Given the description of an element on the screen output the (x, y) to click on. 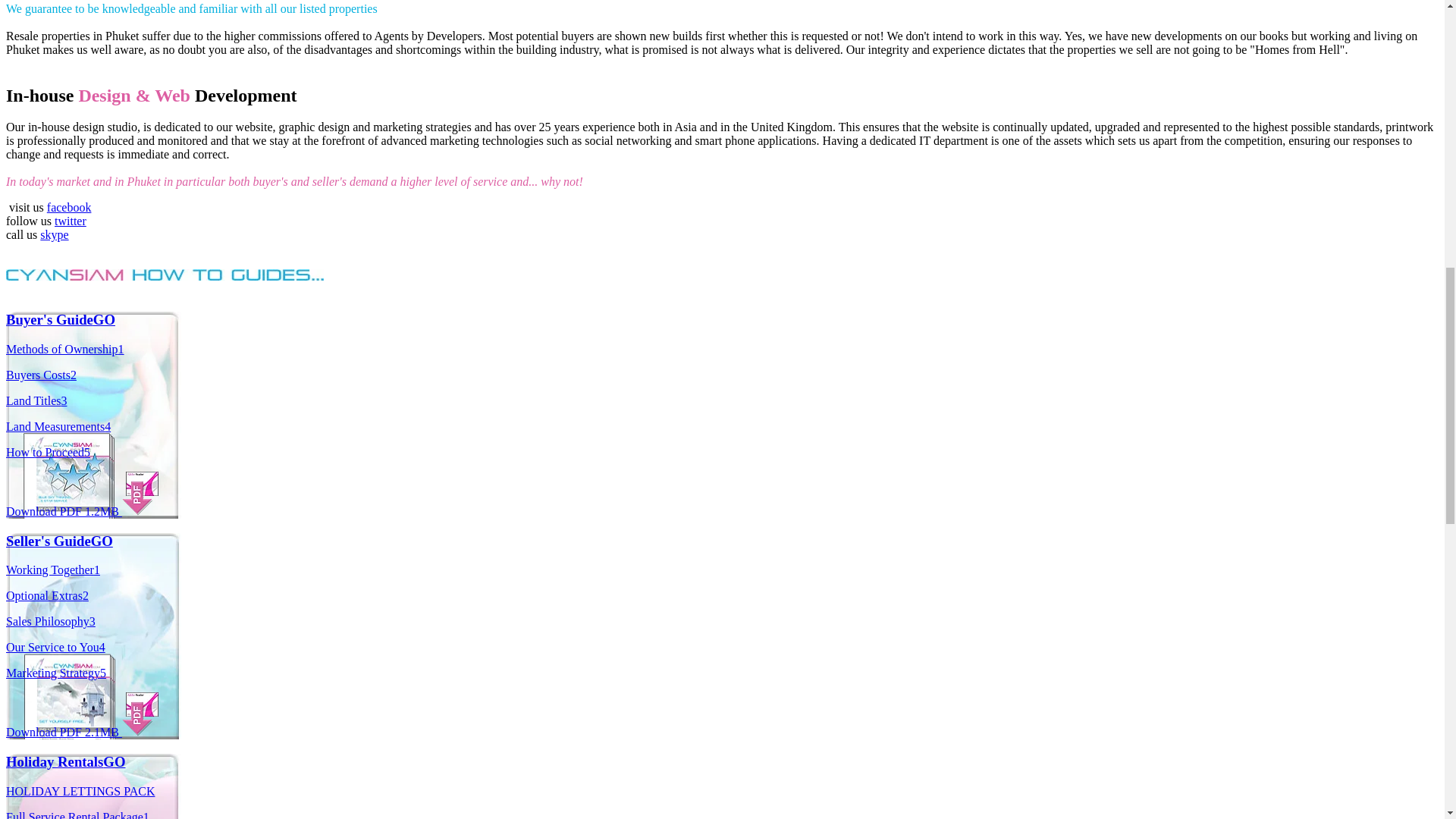
twitter (70, 220)
Download PDF 2.1MB (81, 731)
Land Measurements4 (57, 426)
Holiday RentalsGO (65, 761)
How to Proceed5 (47, 451)
HOLIDAY LETTINGS PACK (79, 790)
Optional Extras2 (46, 594)
Download PDF 1.2MB (81, 511)
Full Service Rental Package1 (77, 814)
Land Titles3 (35, 400)
Buyer's GuideGO (60, 319)
facebook (68, 206)
Buyers Costs2 (41, 374)
skype (54, 234)
Marketing Strategy5 (55, 672)
